Given the description of an element on the screen output the (x, y) to click on. 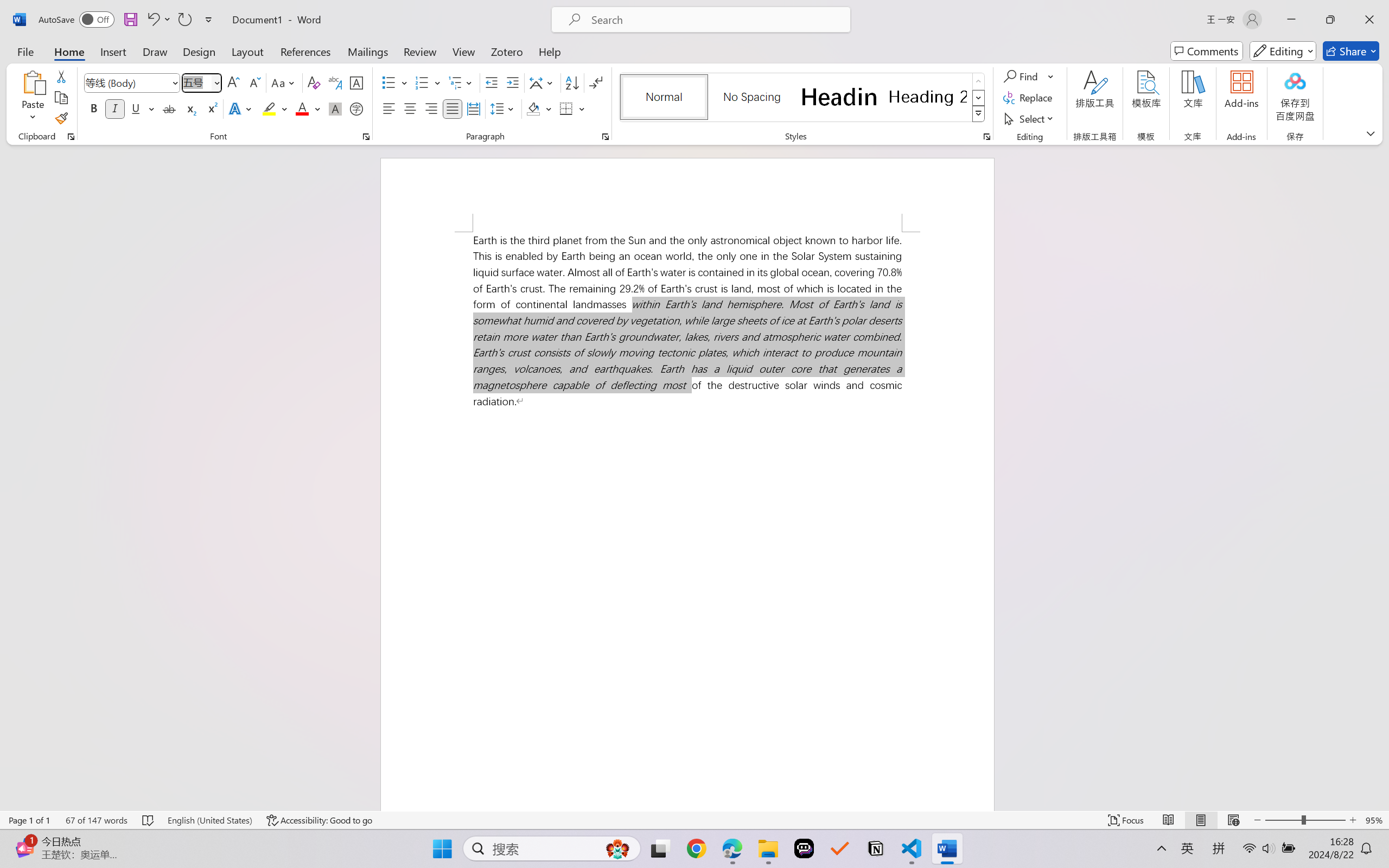
Decrease Indent (491, 82)
Heading 2 (927, 96)
Character Shading (334, 108)
Line and Paragraph Spacing (503, 108)
Strikethrough (169, 108)
Microsoft search (715, 19)
Zoom 95% (1374, 819)
Select (1030, 118)
Office Clipboard... (70, 136)
